Given the description of an element on the screen output the (x, y) to click on. 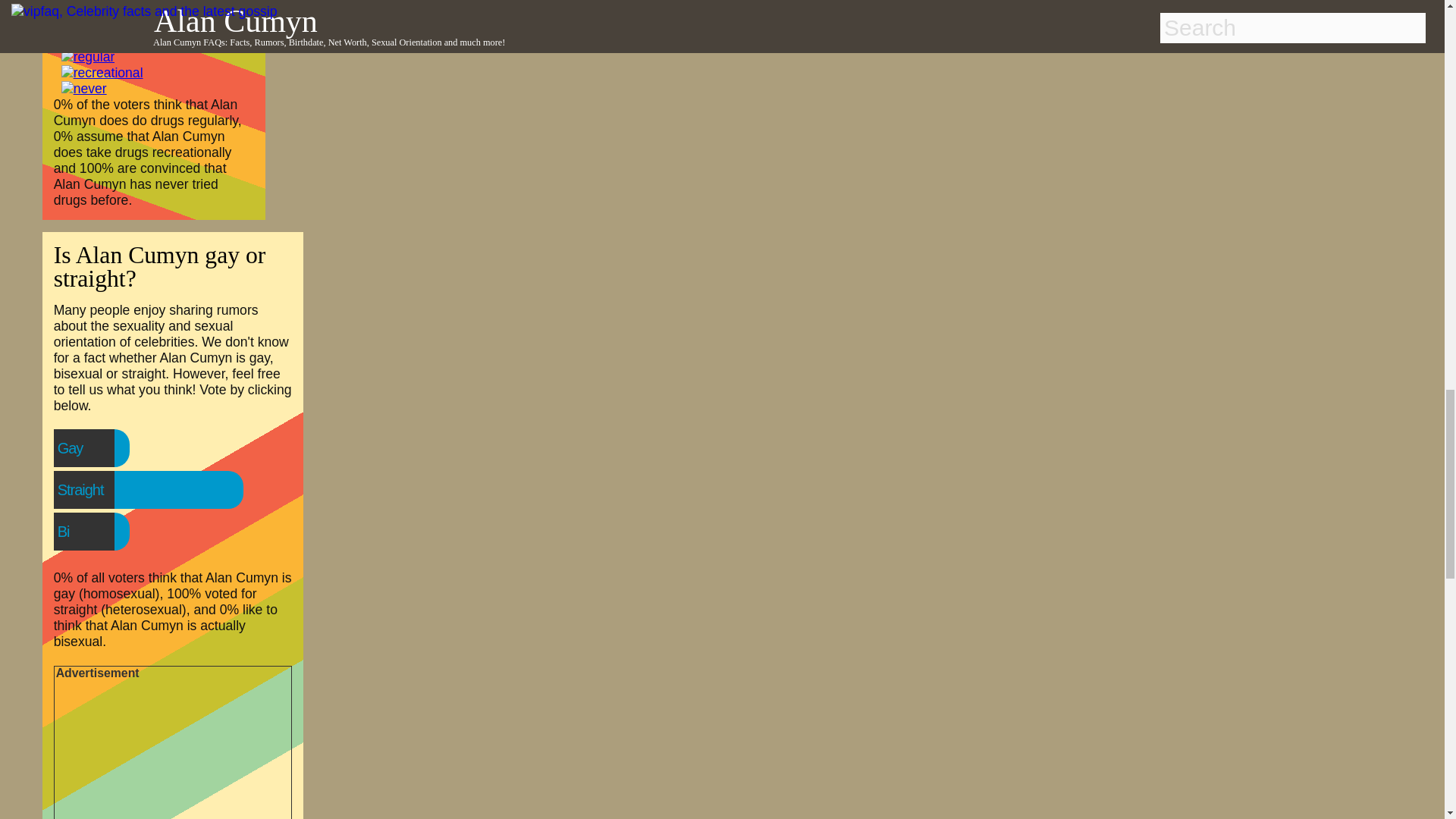
Gay (101, 448)
Straight (111, 490)
Bi (94, 531)
